Given the description of an element on the screen output the (x, y) to click on. 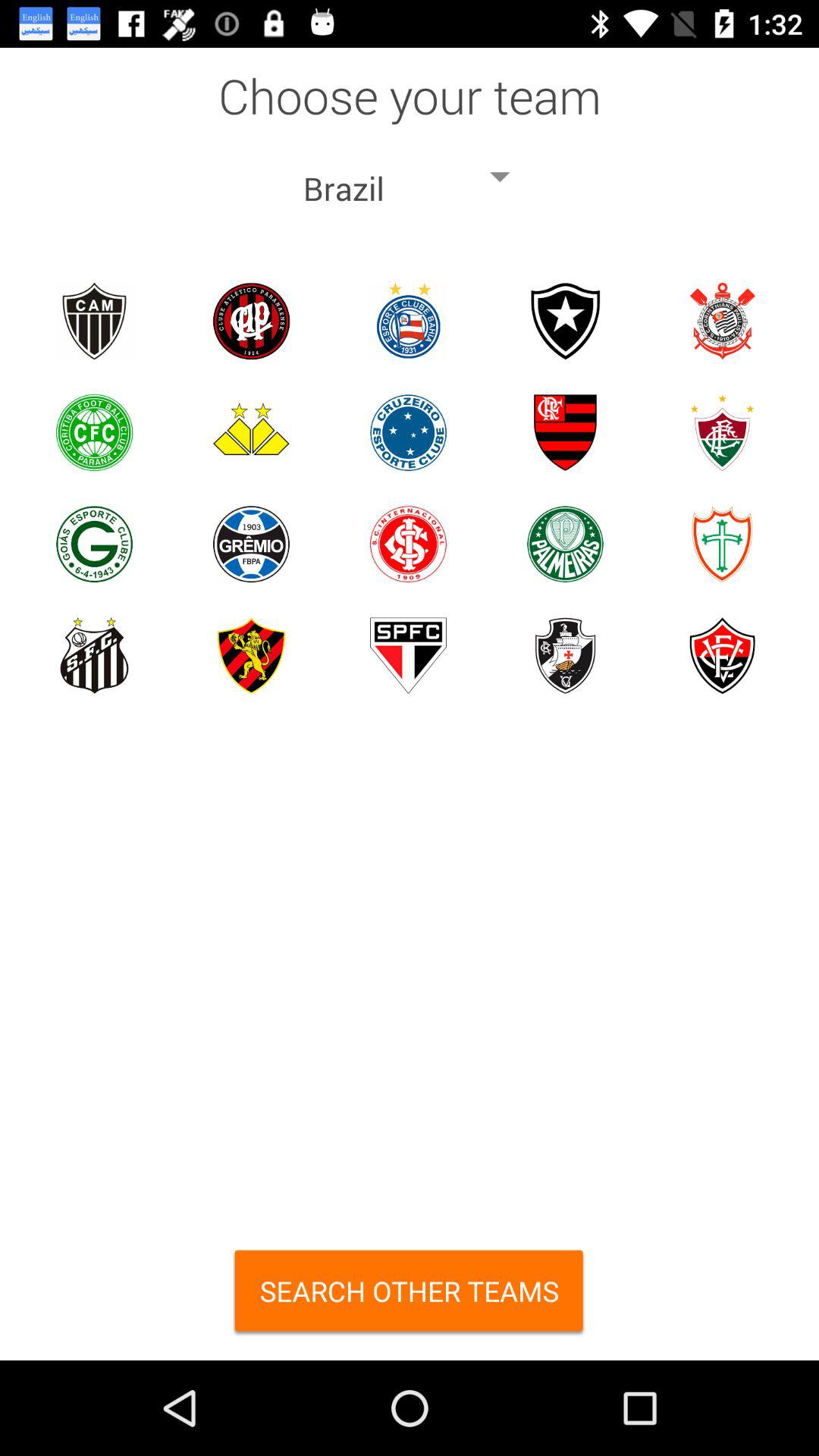
team logo selection option (565, 544)
